Given the description of an element on the screen output the (x, y) to click on. 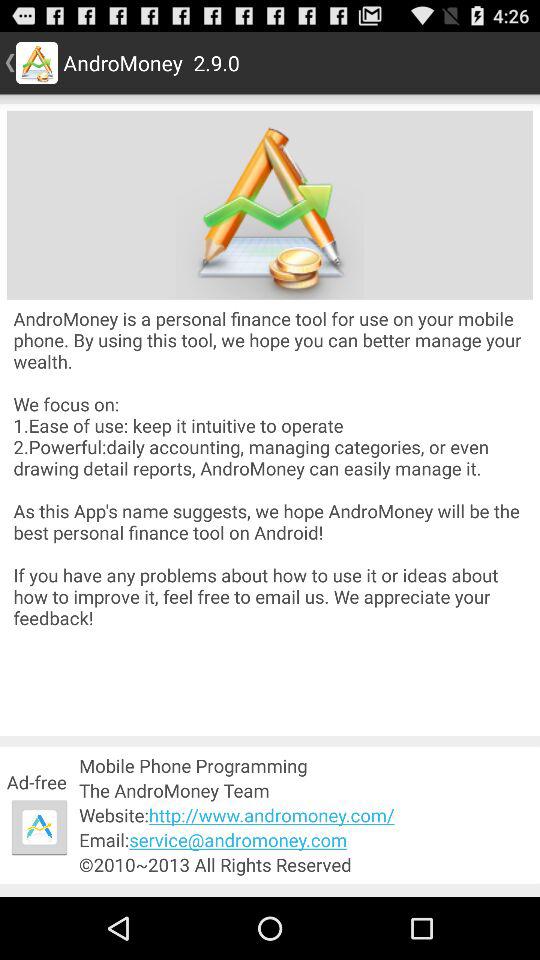
launch the app below the andromoney team icon (306, 814)
